Given the description of an element on the screen output the (x, y) to click on. 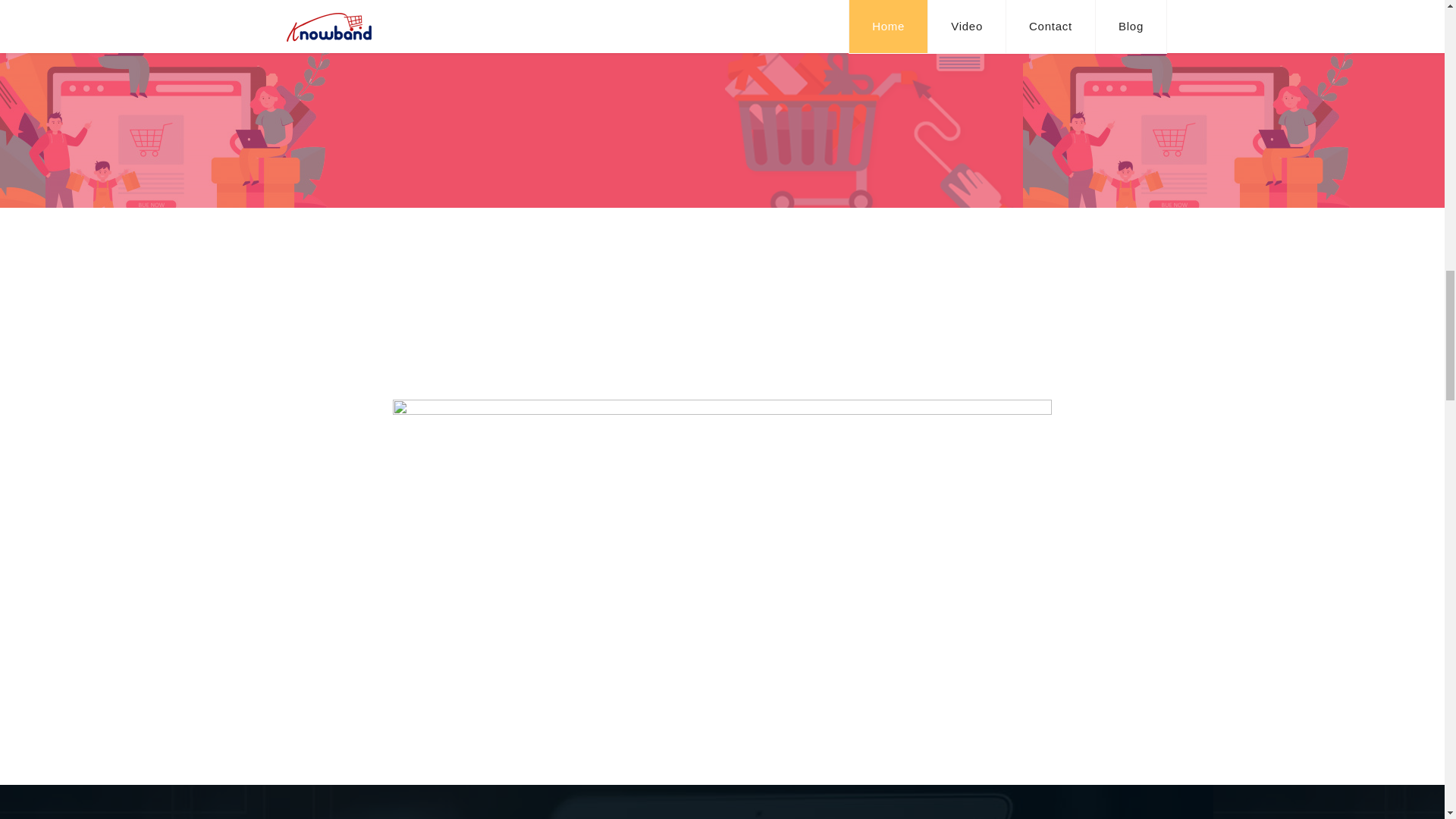
WATCH THE VIDEO (722, 4)
